Given the description of an element on the screen output the (x, y) to click on. 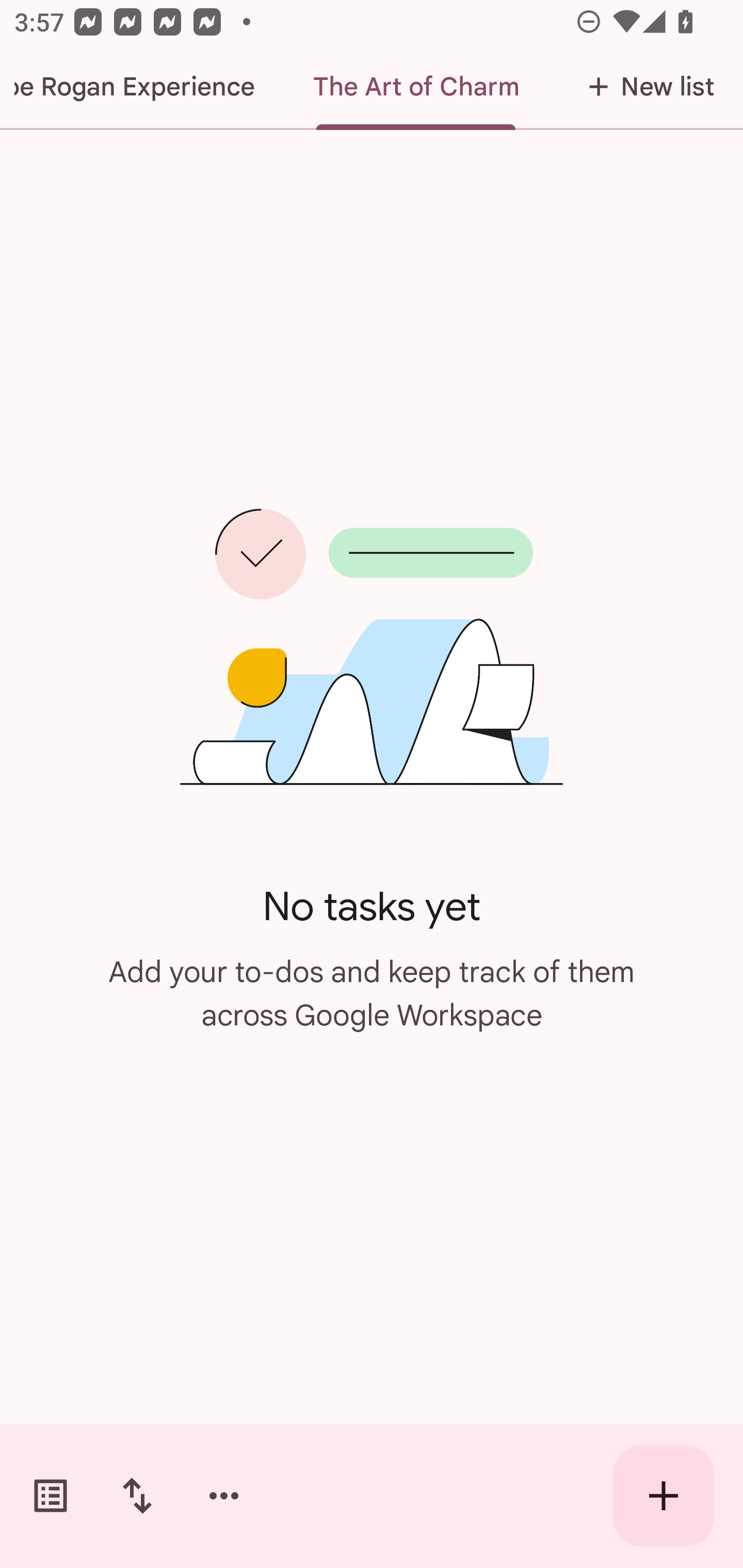
The Joe Rogan Experience (141, 86)
New list (645, 86)
Switch task lists (50, 1495)
Create new task (663, 1495)
Change sort order (136, 1495)
More options (223, 1495)
